Given the description of an element on the screen output the (x, y) to click on. 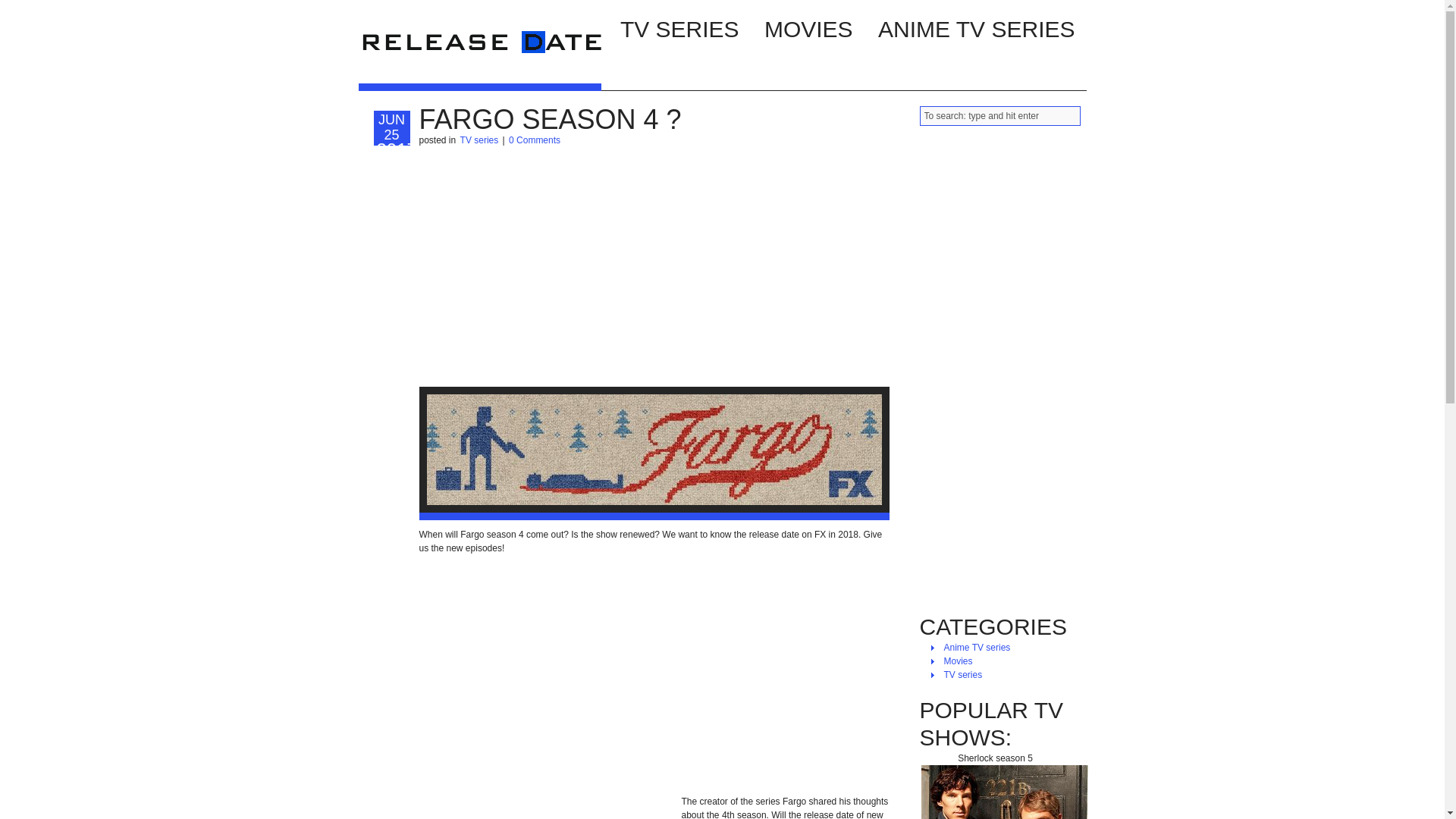
Movies (958, 661)
Anime TV series (976, 647)
ANIME TV SERIES (976, 27)
0 Comments (534, 140)
Advertisement (653, 266)
Advertisement (545, 810)
MOVIES (808, 27)
TV series (963, 674)
TV SERIES (679, 27)
TV series (479, 140)
Advertisement (653, 674)
To search: type and hit enter (999, 116)
